Given the description of an element on the screen output the (x, y) to click on. 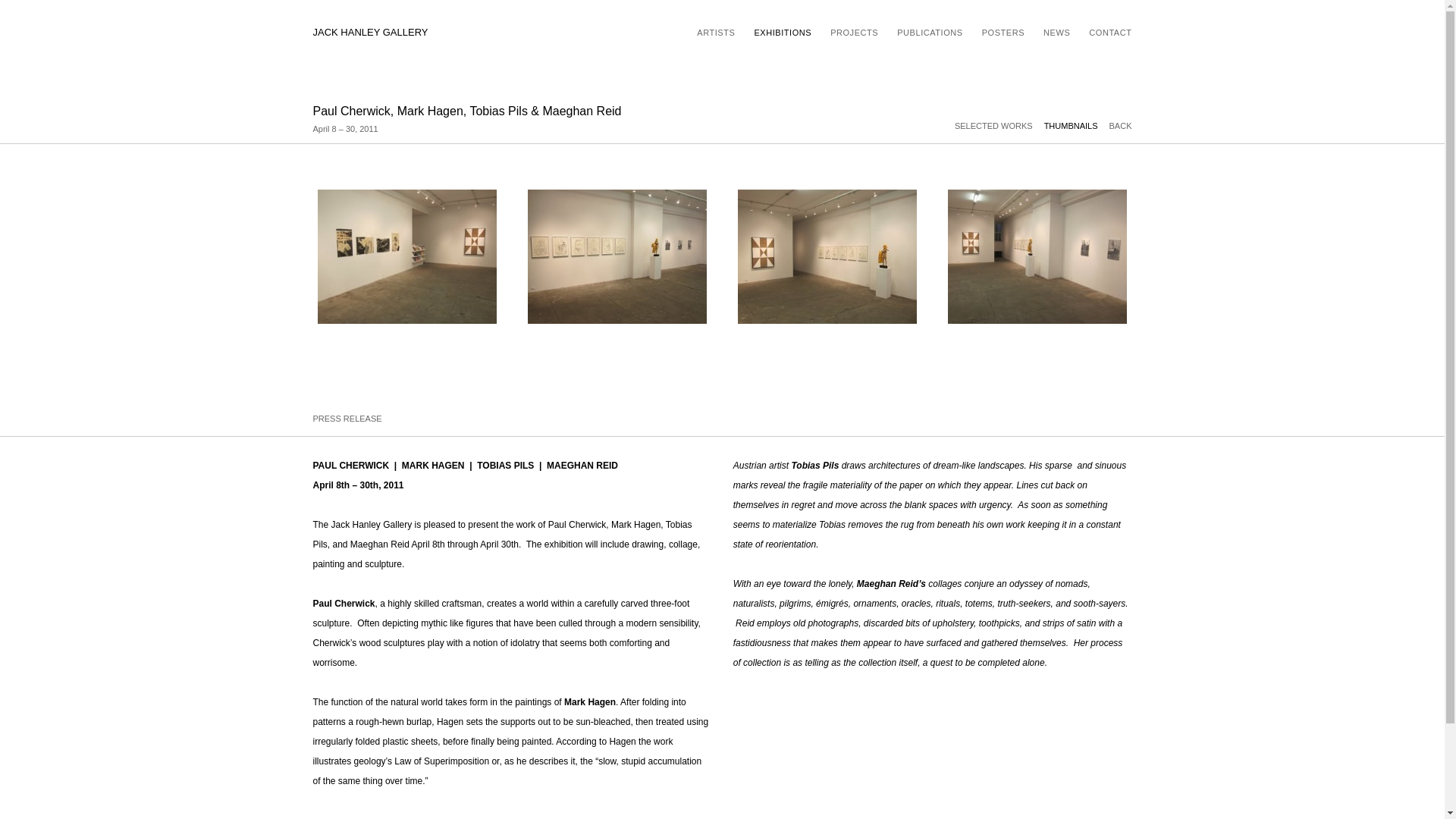
CONTACT (1110, 31)
PROJECTS (853, 31)
NEWS (1056, 31)
JACK HANLEY GALLERY (370, 32)
BACK (1120, 125)
SELECTED WORKS (999, 125)
PUBLICATIONS (929, 31)
POSTERS (1003, 31)
THUMBNAILS (1076, 125)
ARTISTS (716, 31)
PRESS RELEASE (347, 418)
EXHIBITIONS (782, 31)
